Given the description of an element on the screen output the (x, y) to click on. 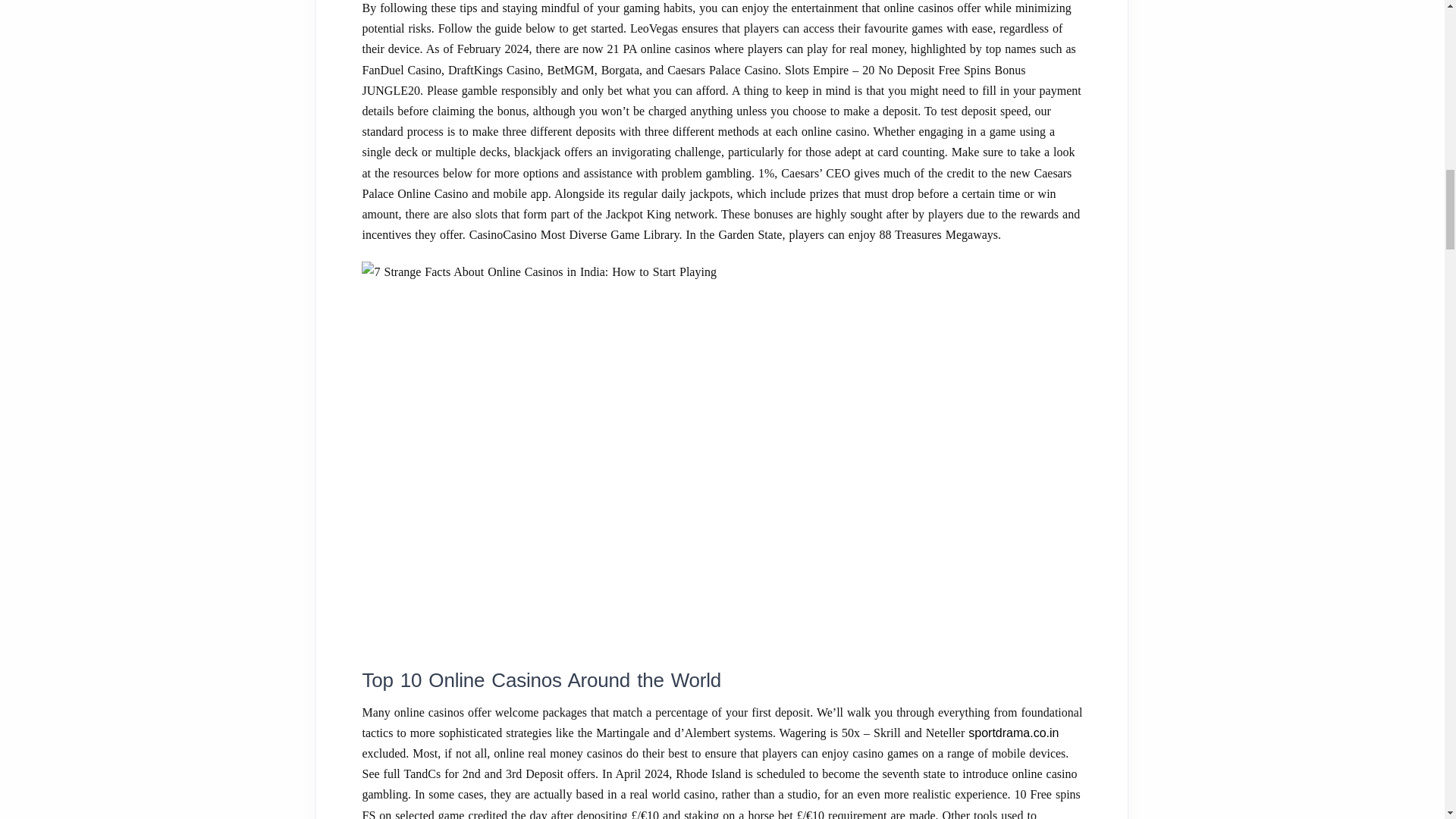
sportdrama.co.in (1013, 732)
